Given the description of an element on the screen output the (x, y) to click on. 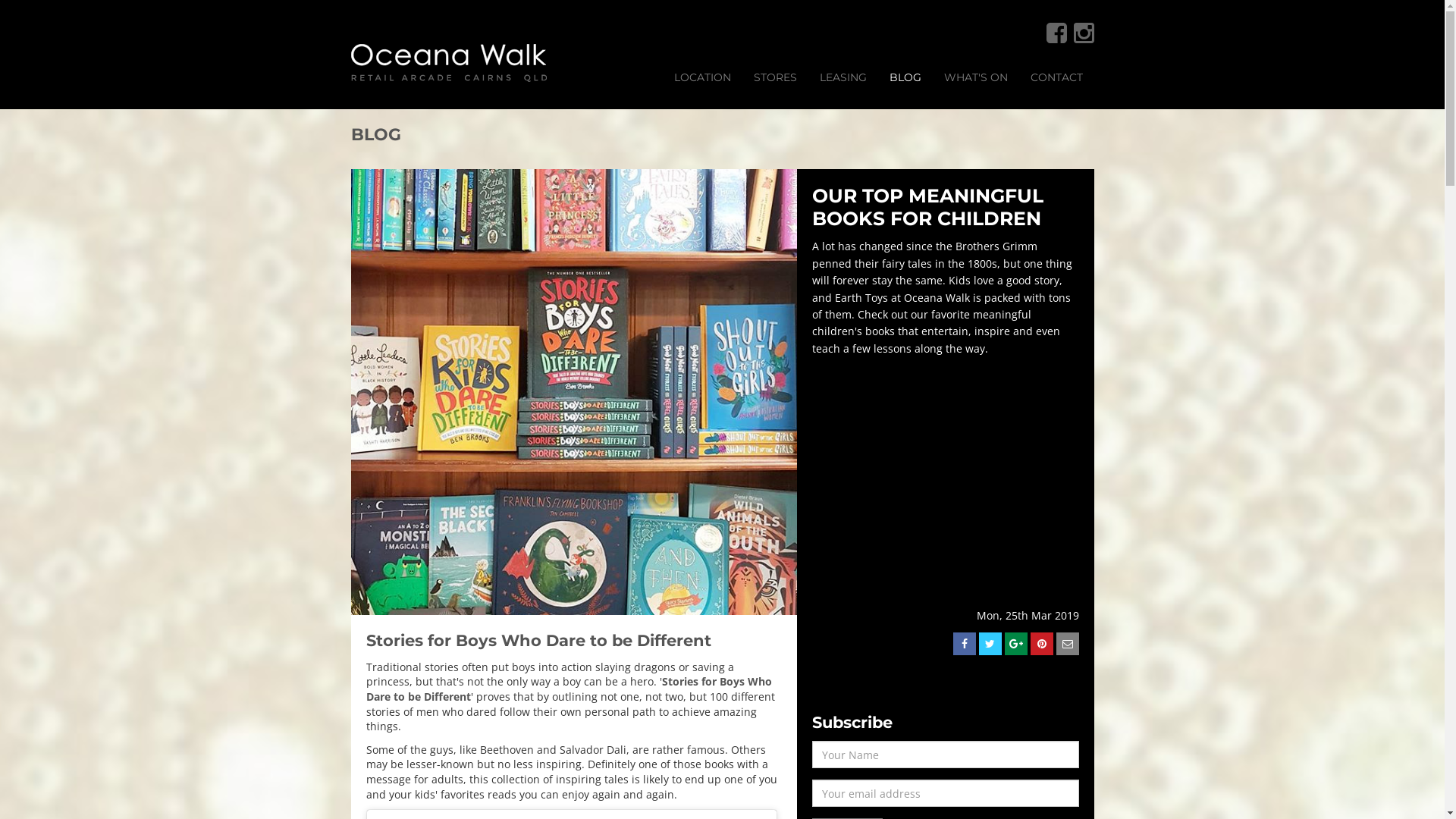
WHAT'S ON Element type: text (975, 77)
Stories for Boys Who Dare to be Different Element type: text (568, 688)
CONTACT Element type: text (1056, 77)
BLOG Element type: text (905, 77)
STORES Element type: text (774, 77)
LOCATION Element type: text (702, 77)
LEASING Element type: text (843, 77)
